Given the description of an element on the screen output the (x, y) to click on. 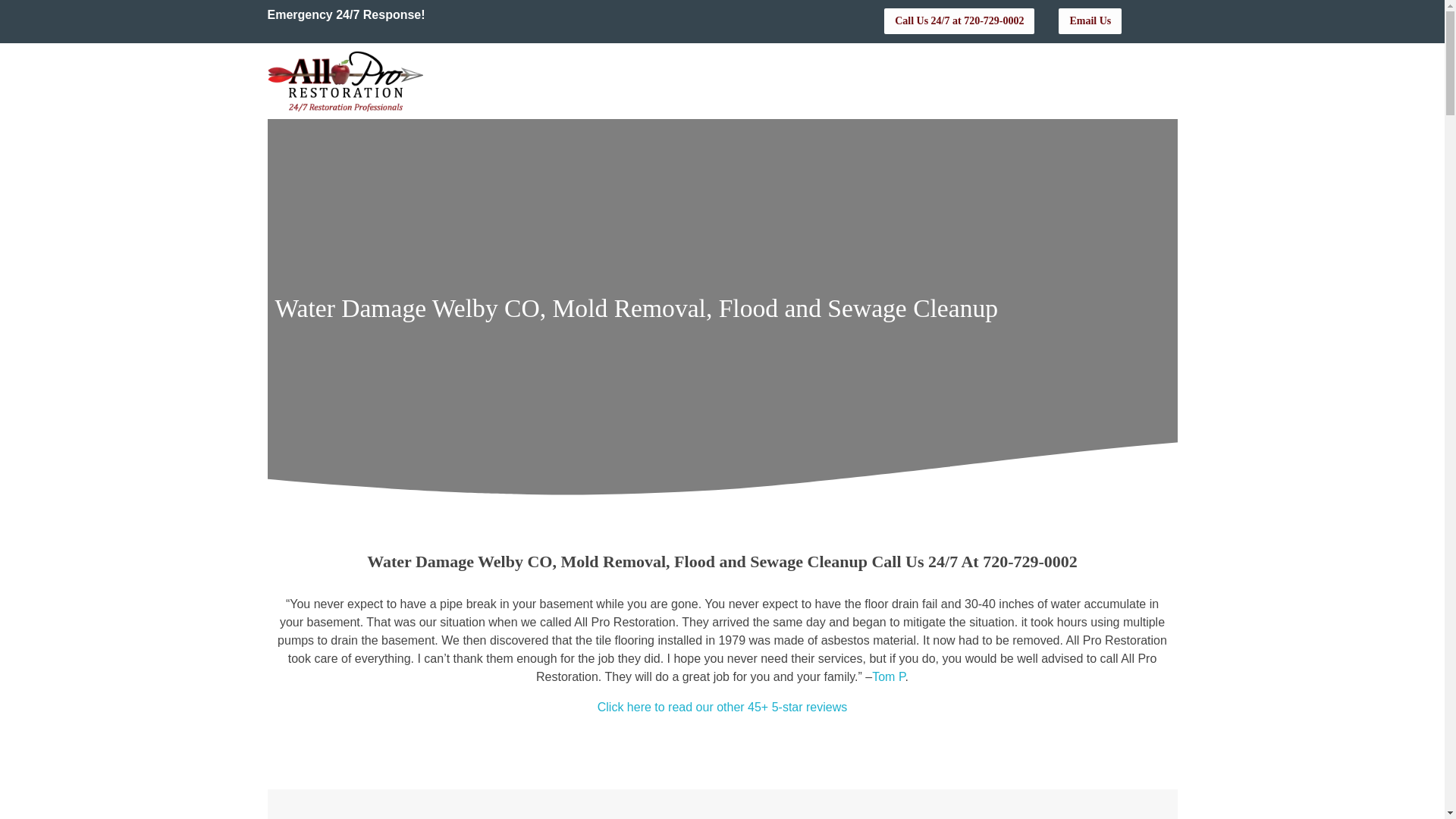
Email Us (1089, 21)
